Given the description of an element on the screen output the (x, y) to click on. 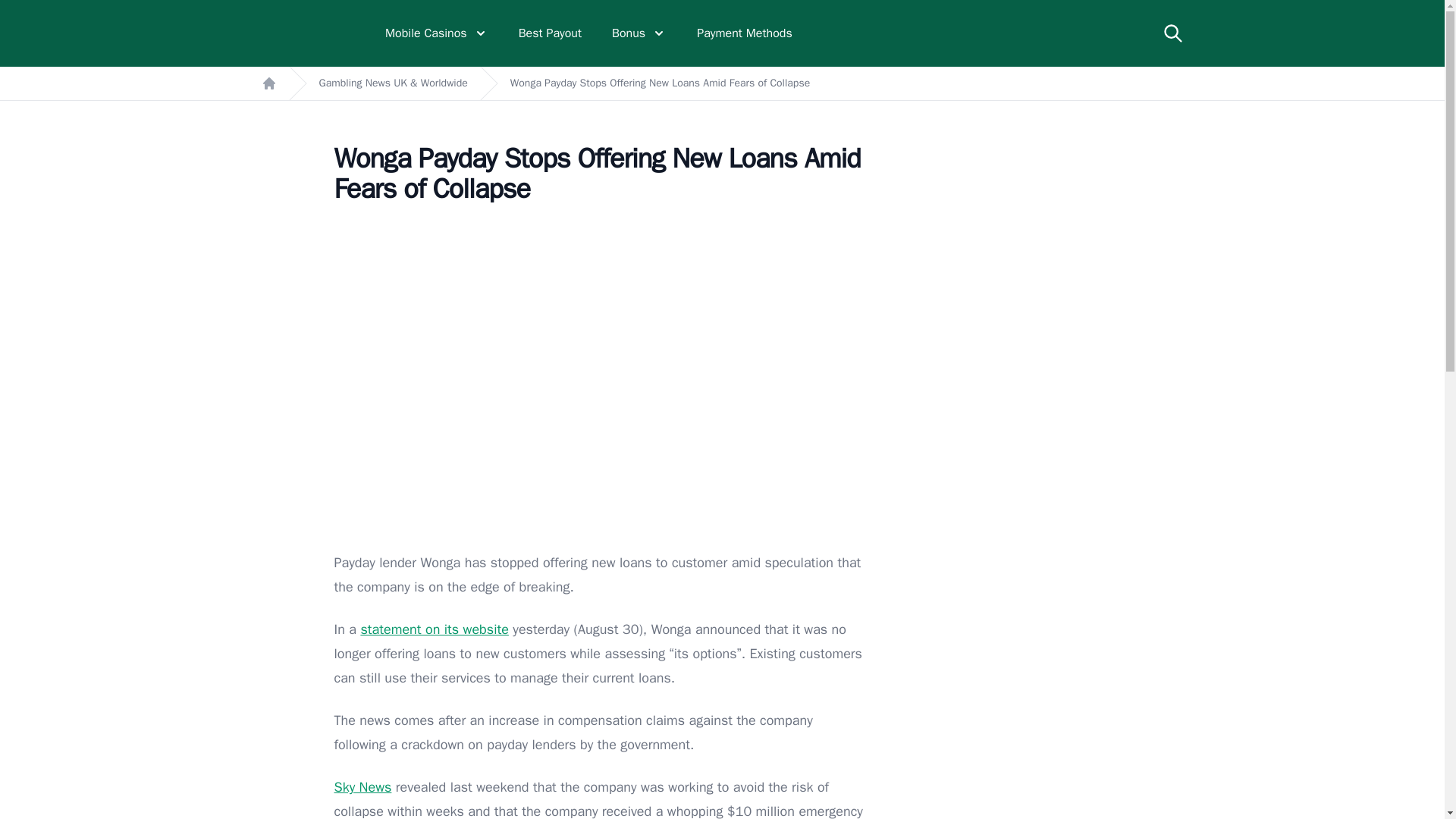
Bonus (638, 33)
SmartphoneCasinos.co.uk (307, 33)
SmartphoneCasinos.co.uk Logo (307, 33)
Payment Methods (744, 33)
Sky News (362, 786)
Best Payout (549, 33)
statement on its website (433, 629)
Home (268, 83)
Mobile Casinos (436, 33)
